Given the description of an element on the screen output the (x, y) to click on. 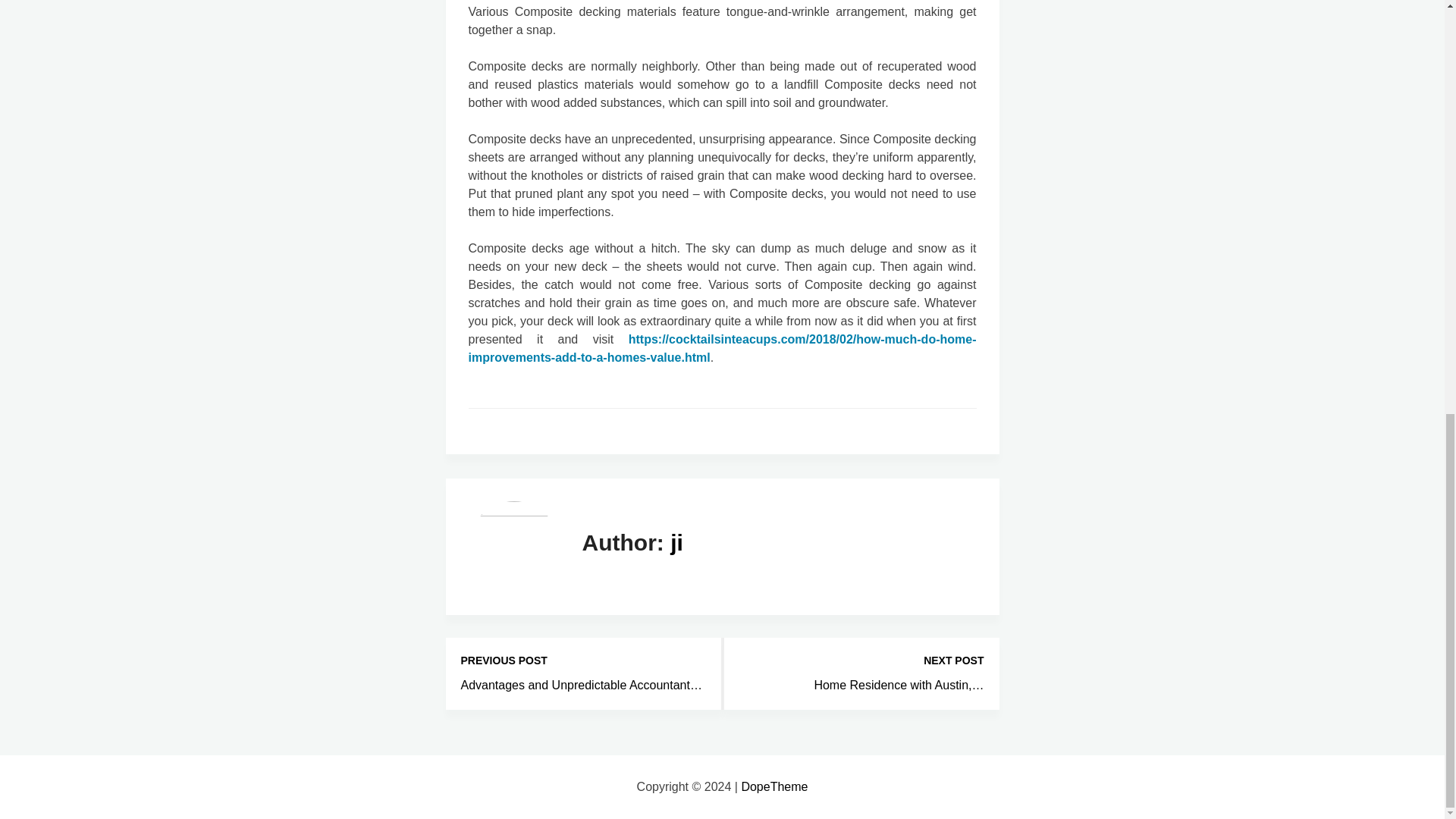
NEXT POST (861, 660)
PREVIOUS POST (583, 660)
Home Residence with Austin, Texas Detoxing Ideas (898, 684)
DopeTheme (774, 786)
Advantages and Unpredictable Accountant Properties (581, 684)
